Given the description of an element on the screen output the (x, y) to click on. 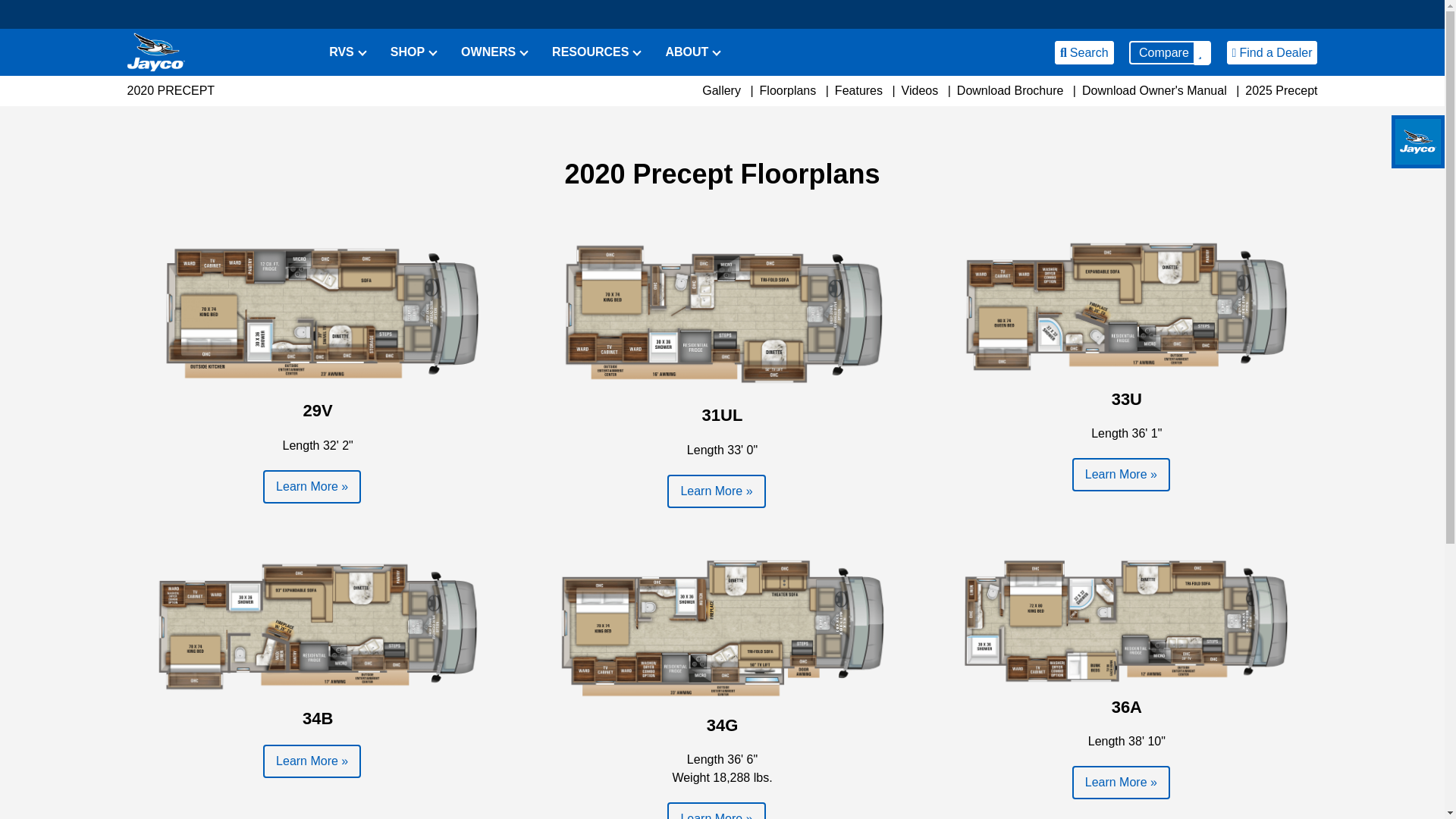
RESOURCES (589, 52)
SHOP (407, 52)
RVS (341, 52)
Compare (1170, 52)
Find a Dealer (1272, 52)
Search (1083, 52)
ABOUT (686, 52)
OWNERS (488, 52)
